Given the description of an element on the screen output the (x, y) to click on. 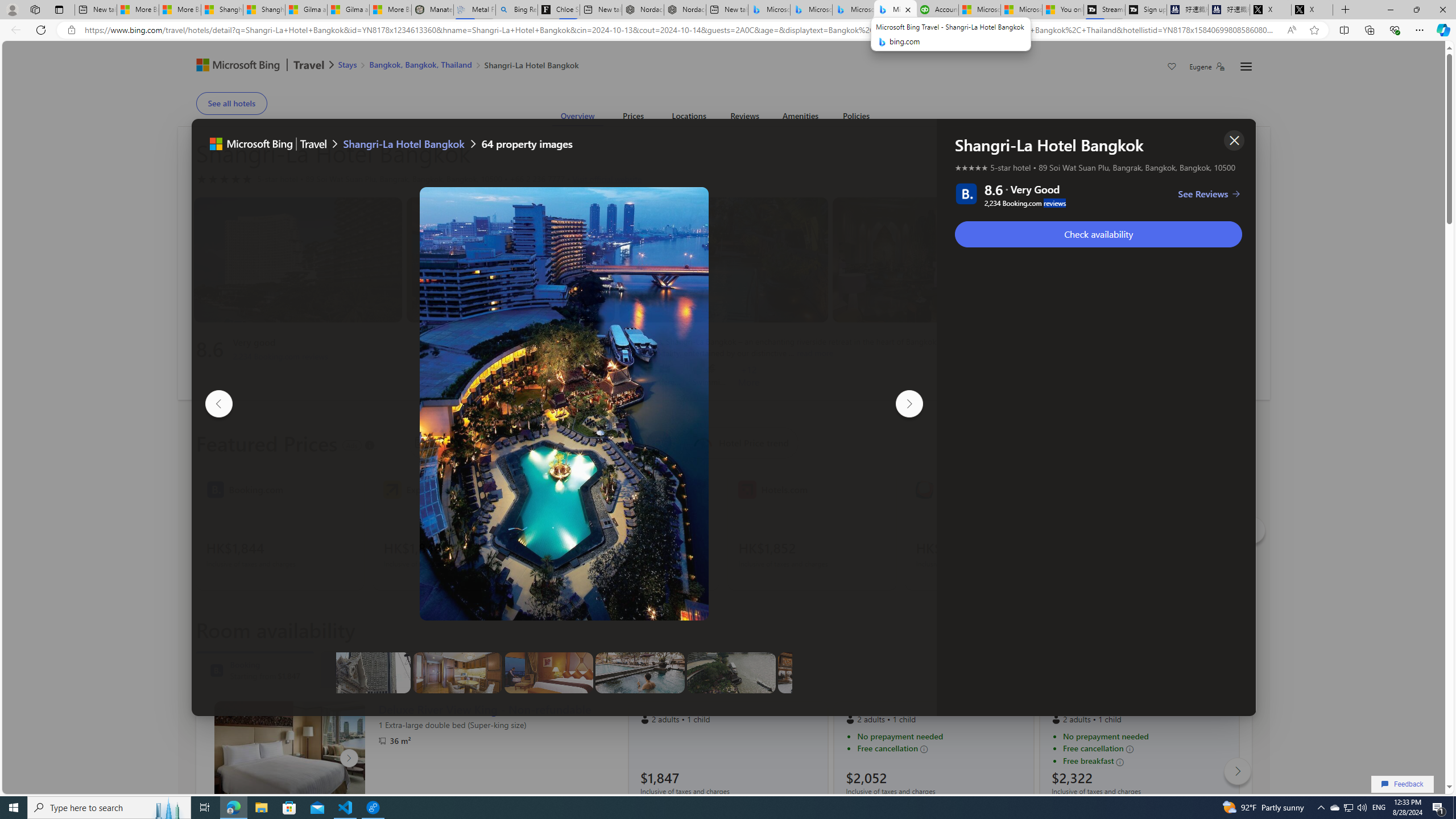
Microsoft Bing Travel - Stays in Bangkok, Bangkok, Thailand (810, 9)
